Given the description of an element on the screen output the (x, y) to click on. 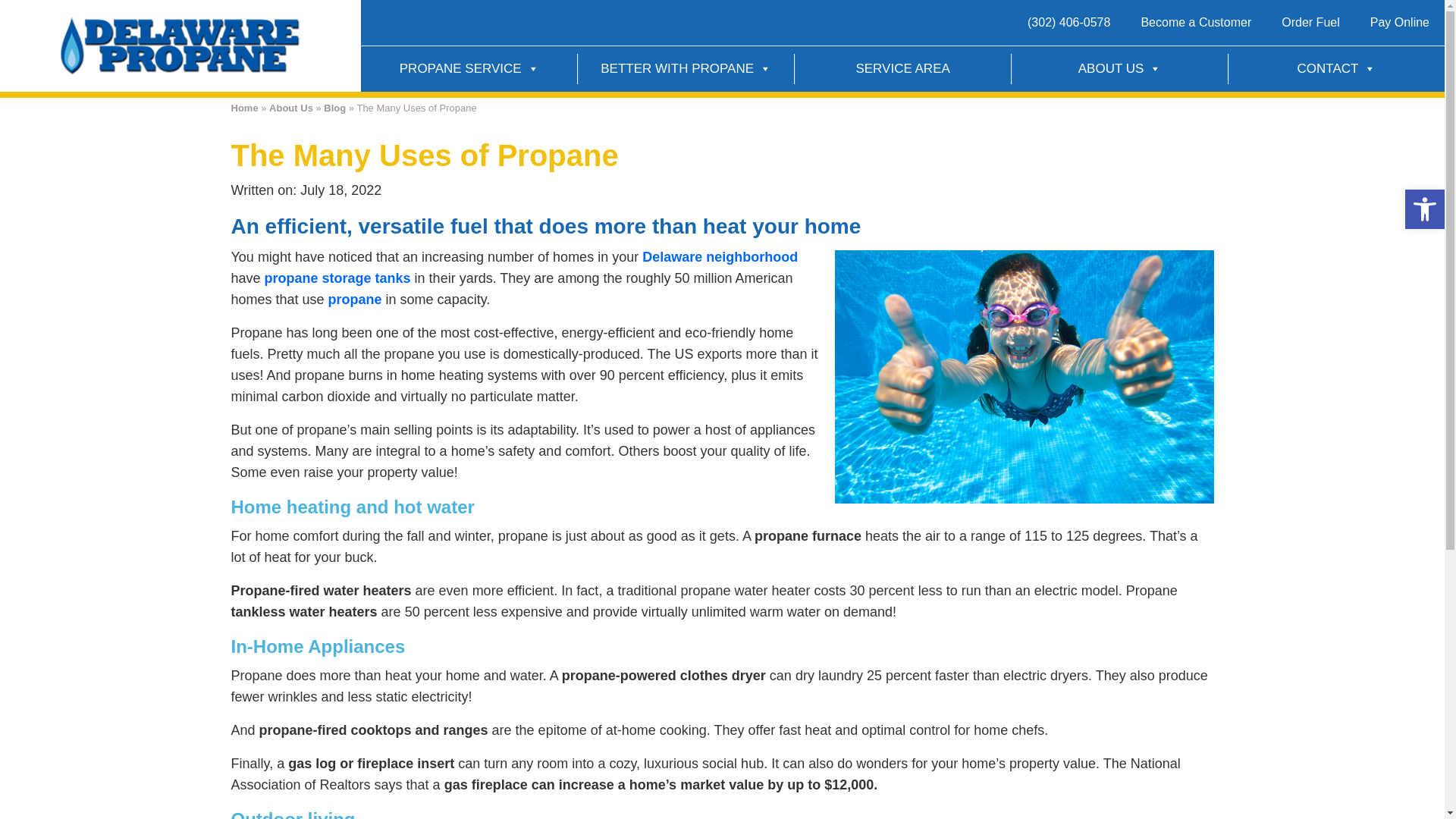
service area (719, 256)
ABOUT US (1119, 69)
Become a Customer (1195, 22)
SERVICE AREA (902, 69)
propane (355, 299)
BETTER WITH PROPANE (685, 69)
Accessibility Tools (1424, 209)
PROPANE SERVICE (468, 69)
Order Fuel (1310, 22)
tanks (337, 278)
home (180, 44)
